Given the description of an element on the screen output the (x, y) to click on. 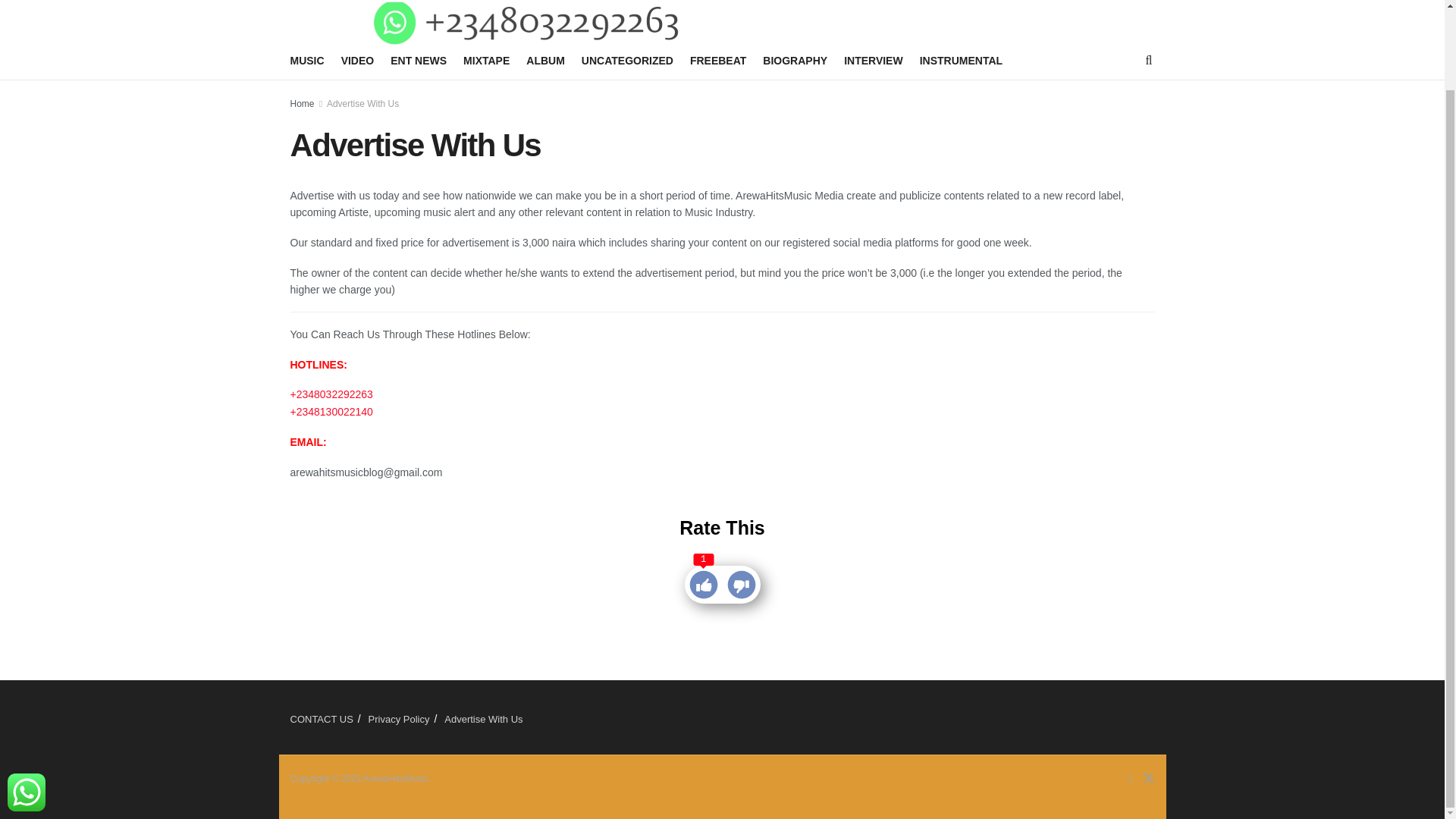
ALBUM (544, 60)
UNCATEGORIZED (626, 60)
VIDEO (357, 60)
INTERVIEW (873, 60)
MIXTAPE (486, 60)
INSTRUMENTAL (961, 60)
BIOGRAPHY (794, 60)
ENT NEWS (418, 60)
MUSIC (306, 60)
FREEBEAT (717, 60)
Home (301, 103)
WhatsApp us (26, 702)
